Given the description of an element on the screen output the (x, y) to click on. 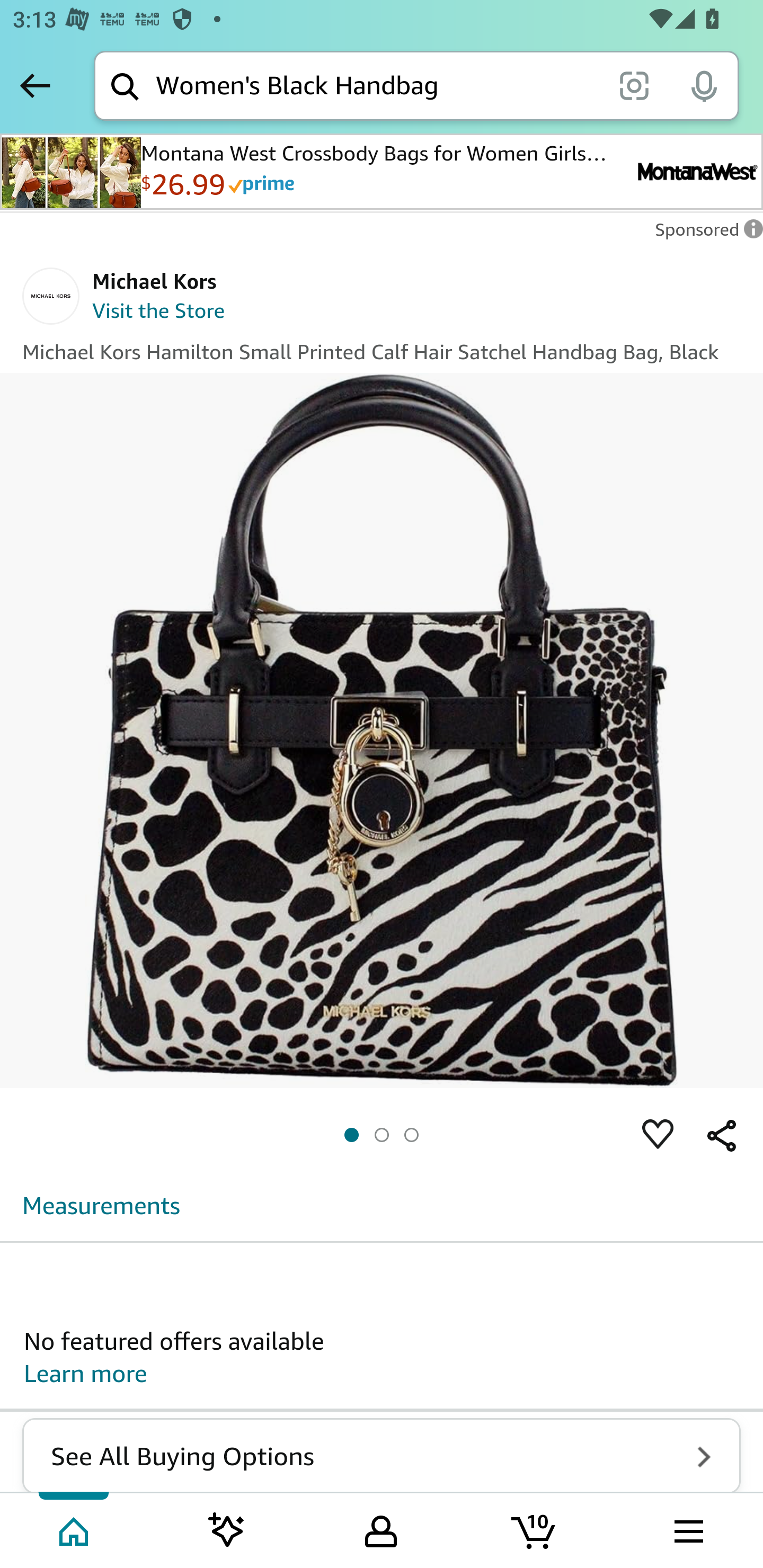
Back (35, 85)
scan it (633, 85)
Leave feedback on Sponsored ad Sponsored  (703, 234)
Visit the Store, Michael Kors (159, 312)
Heart to save an item to your default list (657, 1135)
Measurements (101, 1204)
Learn more (85, 1374)
See All Buying Options (381, 1455)
Home Tab 1 of 5 (75, 1529)
Inspire feed Tab 2 of 5 (227, 1529)
Your Amazon.com Tab 3 of 5 (380, 1529)
Cart 10 items Tab 4 of 5 10 (534, 1529)
Browse menu Tab 5 of 5 (687, 1529)
